Given the description of an element on the screen output the (x, y) to click on. 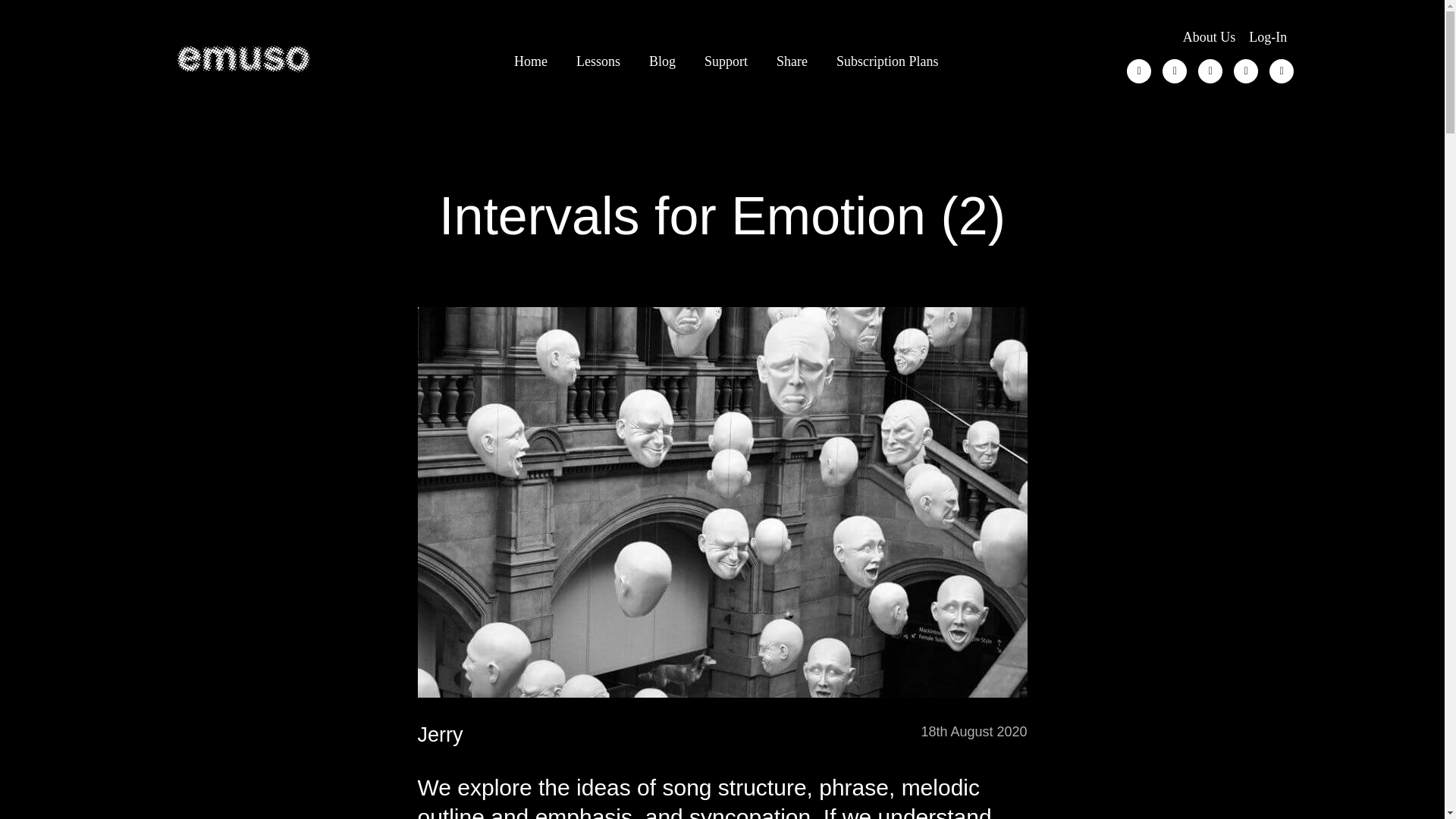
About Us (1209, 34)
Home (530, 58)
Log-In (1267, 34)
Share (791, 58)
Lessons (598, 58)
Blog (662, 58)
Support (725, 58)
Subscription Plans (887, 58)
